Given the description of an element on the screen output the (x, y) to click on. 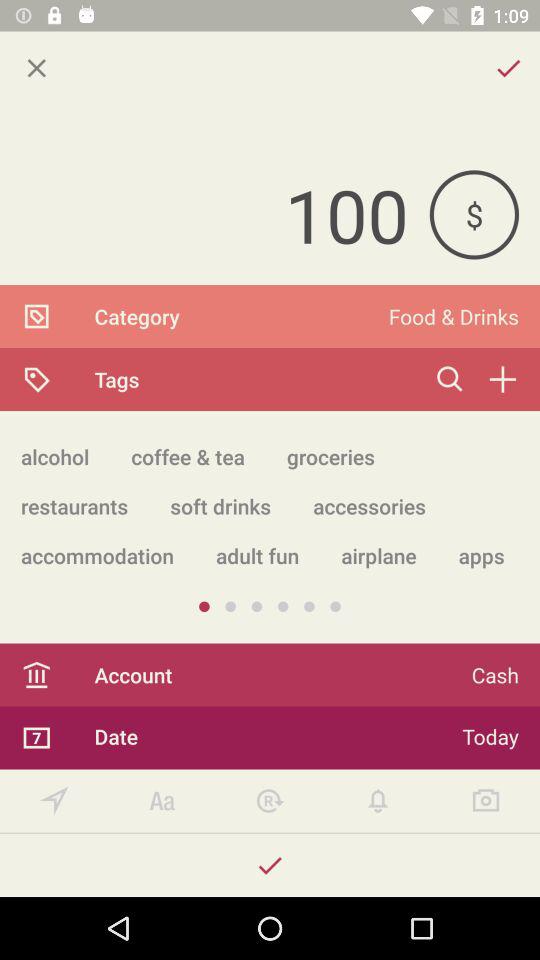
open the coffee & tea app (187, 456)
